Given the description of an element on the screen output the (x, y) to click on. 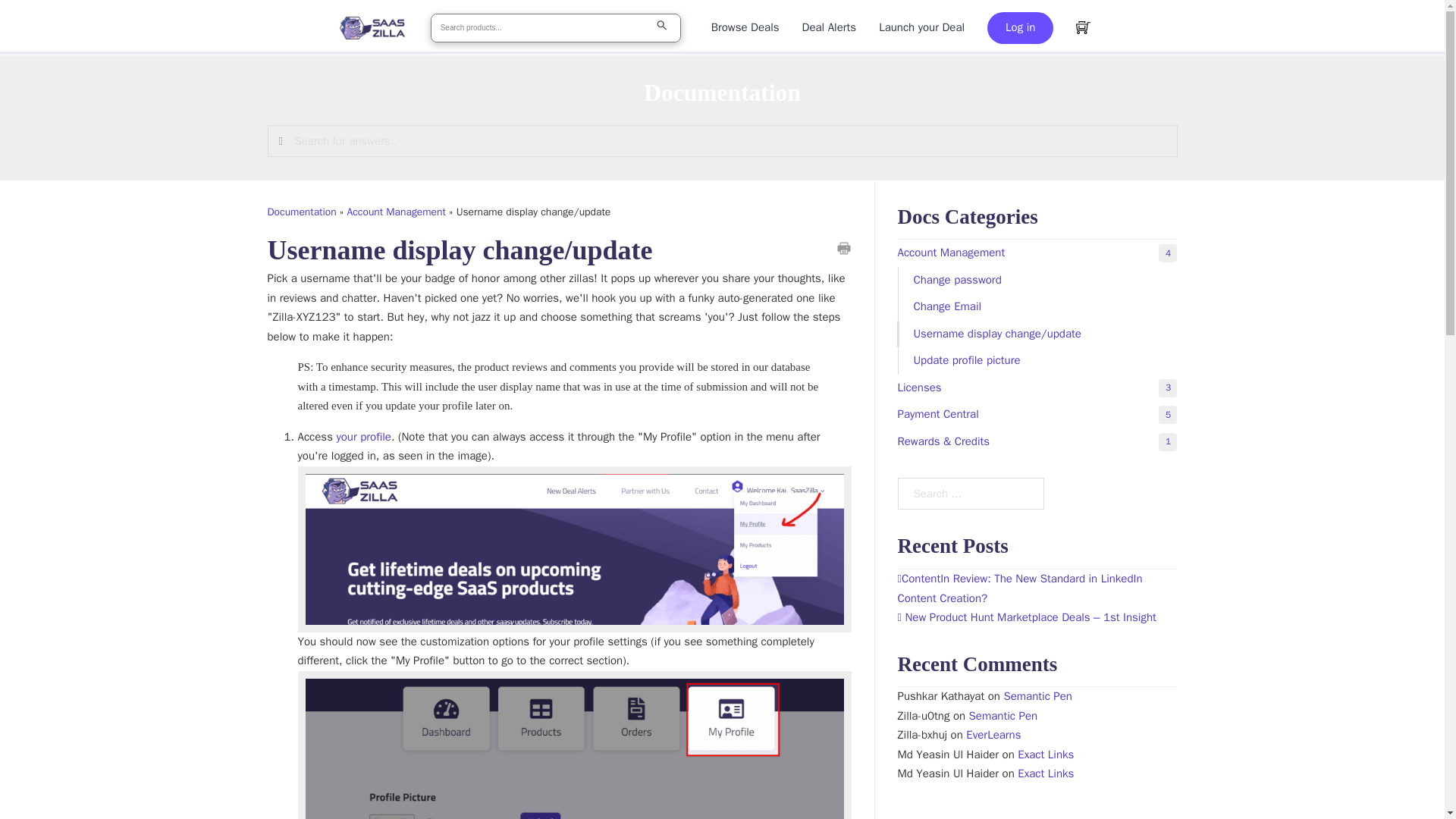
Print this Document (842, 249)
Launch your Deal (921, 27)
Change Email (1037, 307)
Log in (1019, 28)
Account Management (396, 211)
Deal Alerts (829, 27)
Change password (1037, 252)
your profile (1037, 280)
Search Button (363, 436)
Update profile picture (665, 27)
Search (1037, 360)
Browse Deals (721, 141)
Documentation (744, 27)
